Given the description of an element on the screen output the (x, y) to click on. 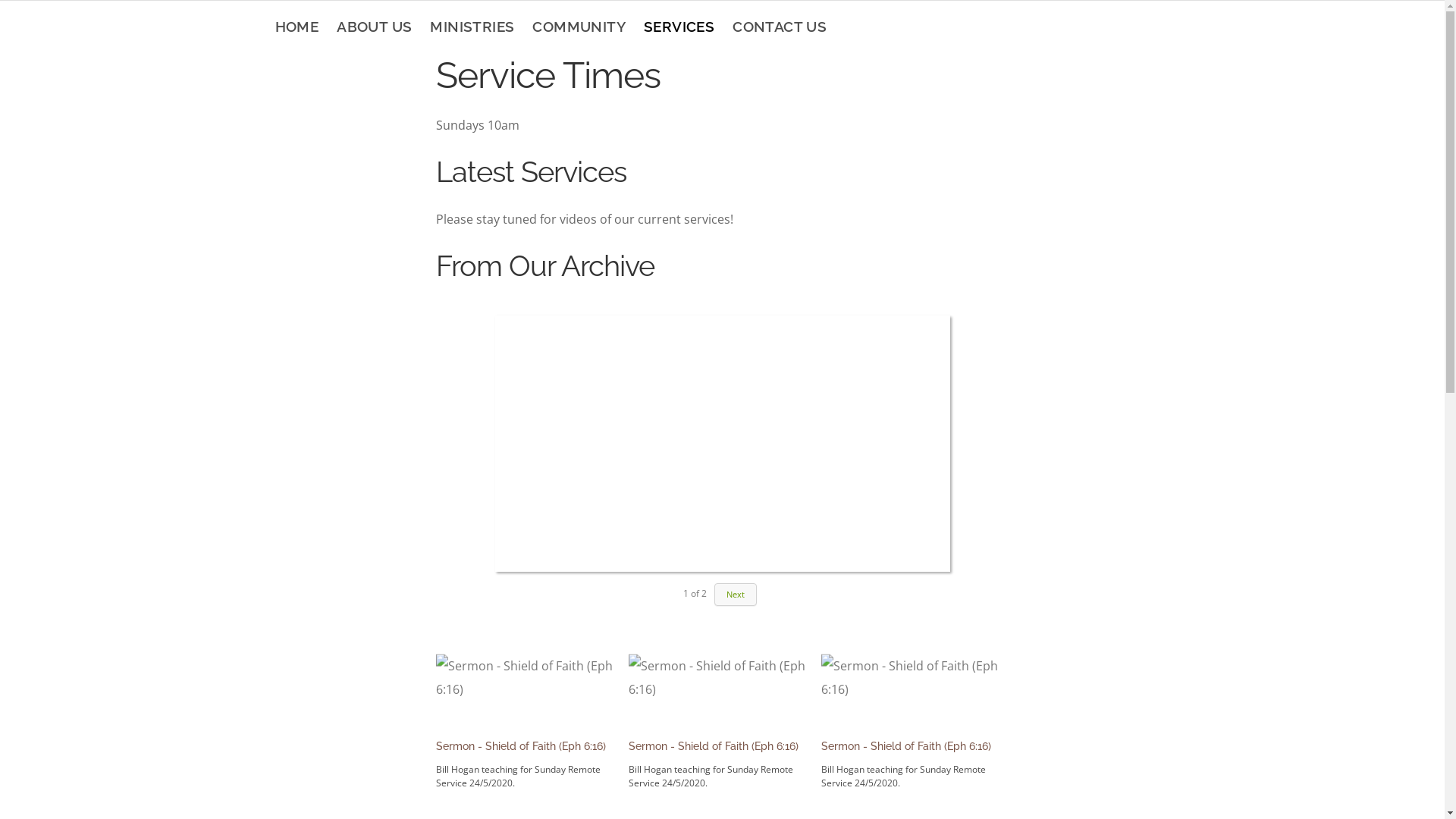
CONTACT US Element type: text (779, 26)
SERVICES Element type: text (678, 26)
ABOUT US Element type: text (373, 26)
COMMUNITY Element type: text (578, 26)
Next Element type: text (735, 594)
HOME Element type: text (296, 26)
MINISTRIES Element type: text (471, 26)
